Given the description of an element on the screen output the (x, y) to click on. 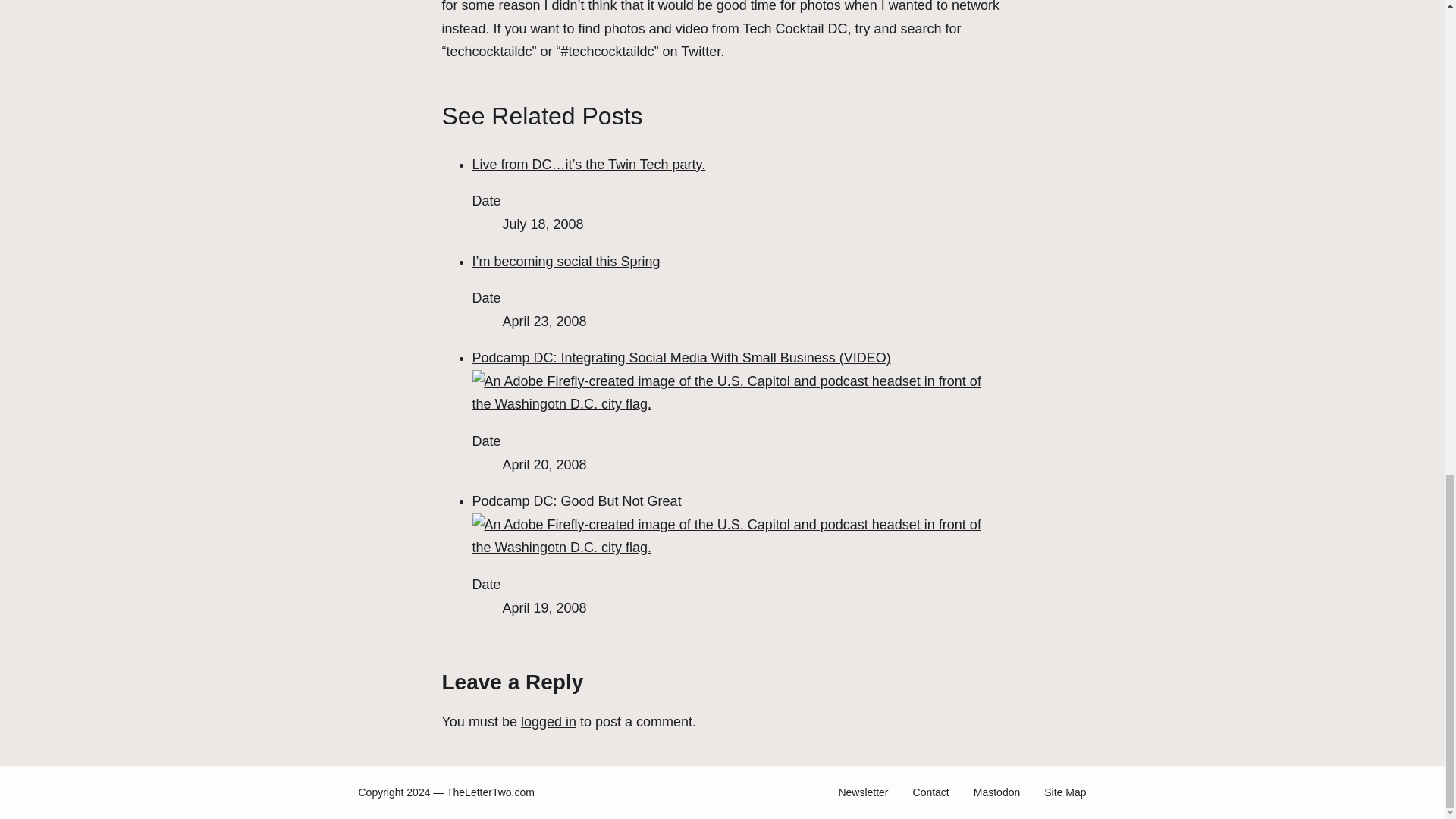
Newsletter (863, 791)
Podcamp DC: Good But Not Great (737, 524)
logged in (548, 721)
Mastodon (997, 791)
Site Map (1064, 791)
Contact (930, 791)
